Given the description of an element on the screen output the (x, y) to click on. 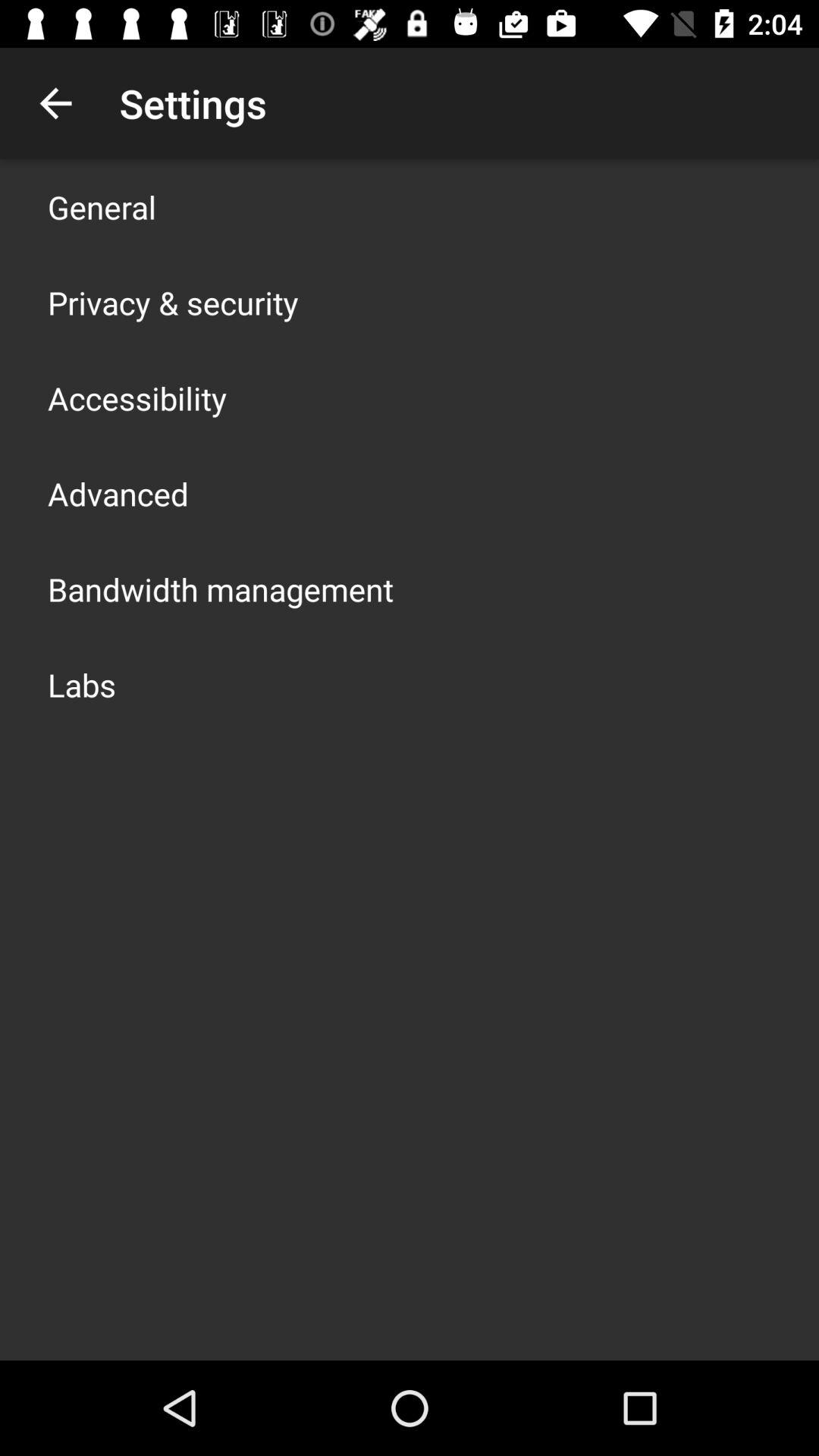
click labs item (81, 684)
